Given the description of an element on the screen output the (x, y) to click on. 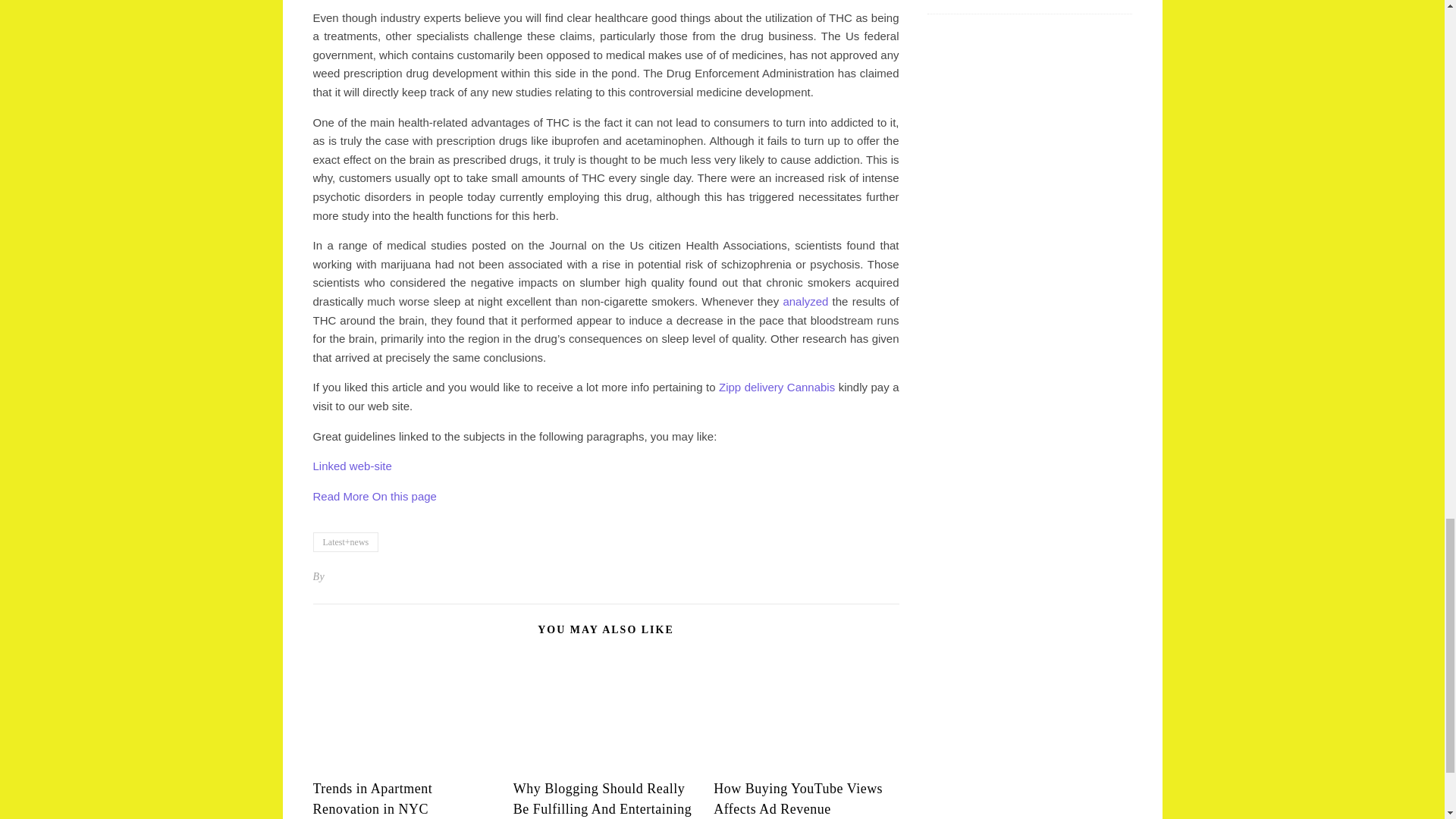
Zipp delivery Cannabis (776, 386)
Why Blogging Should Really Be Fulfilling And Entertaining (602, 798)
Read More On this page (374, 495)
Trends in Apartment Renovation in NYC (372, 798)
Linked web-site (352, 465)
analyzed (805, 300)
Empowering Trust: The Impact of Toto Verification (1015, 1)
How Buying YouTube Views Affects Ad Revenue (797, 798)
